Given the description of an element on the screen output the (x, y) to click on. 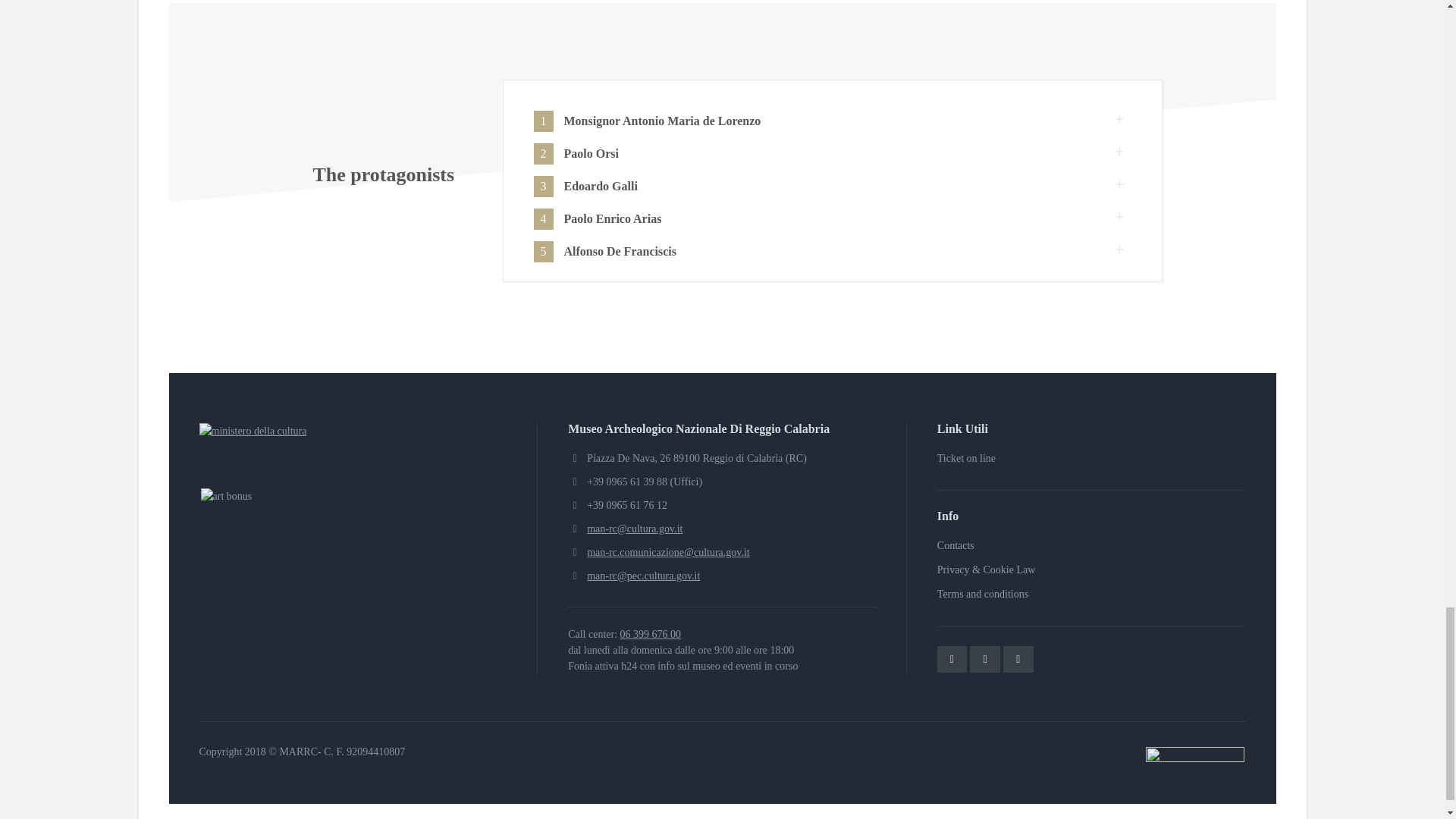
Facebook (984, 659)
Twitter (952, 659)
Instagram (1018, 659)
